Given the description of an element on the screen output the (x, y) to click on. 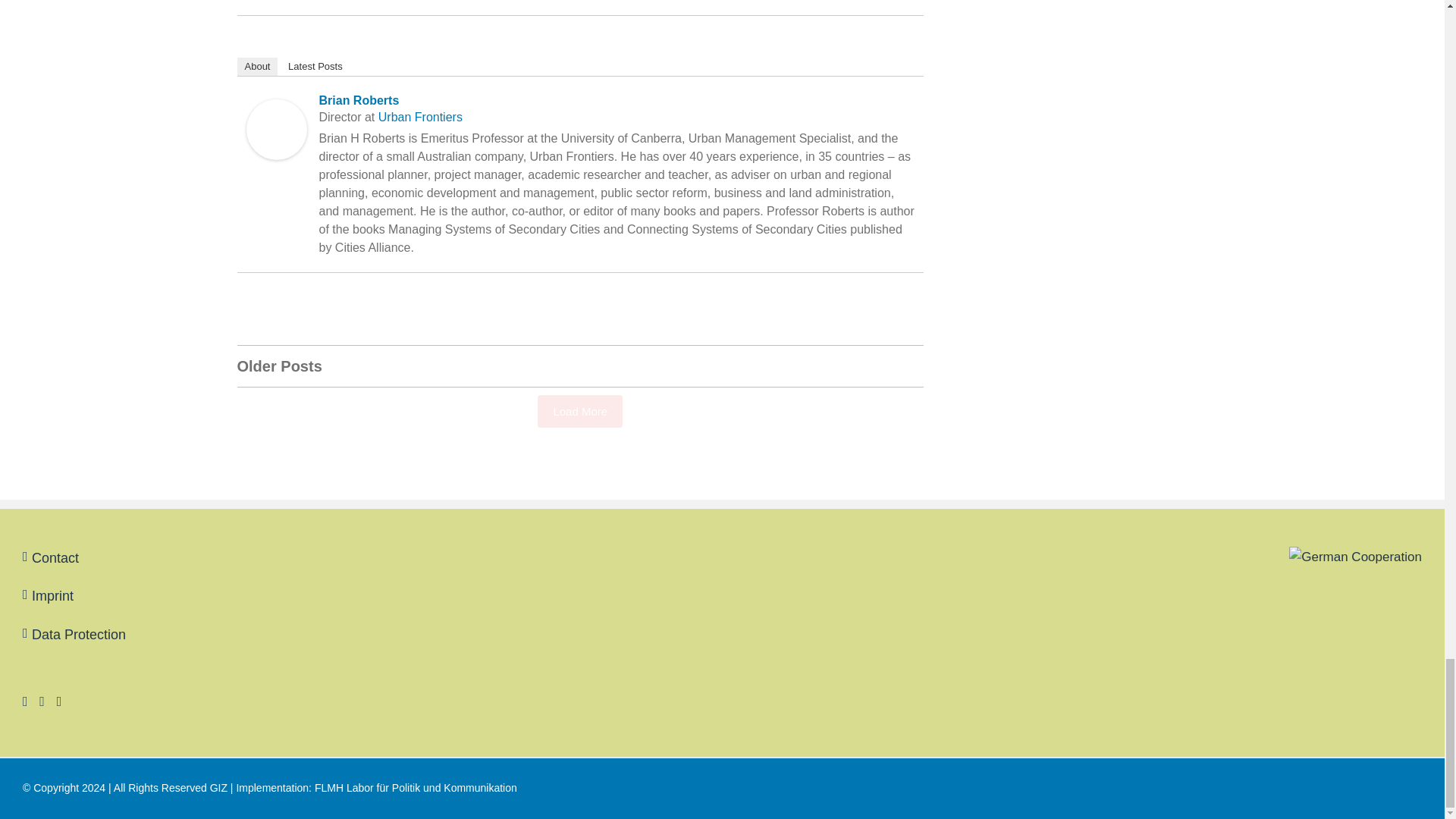
Brian Roberts (275, 109)
